Given the description of an element on the screen output the (x, y) to click on. 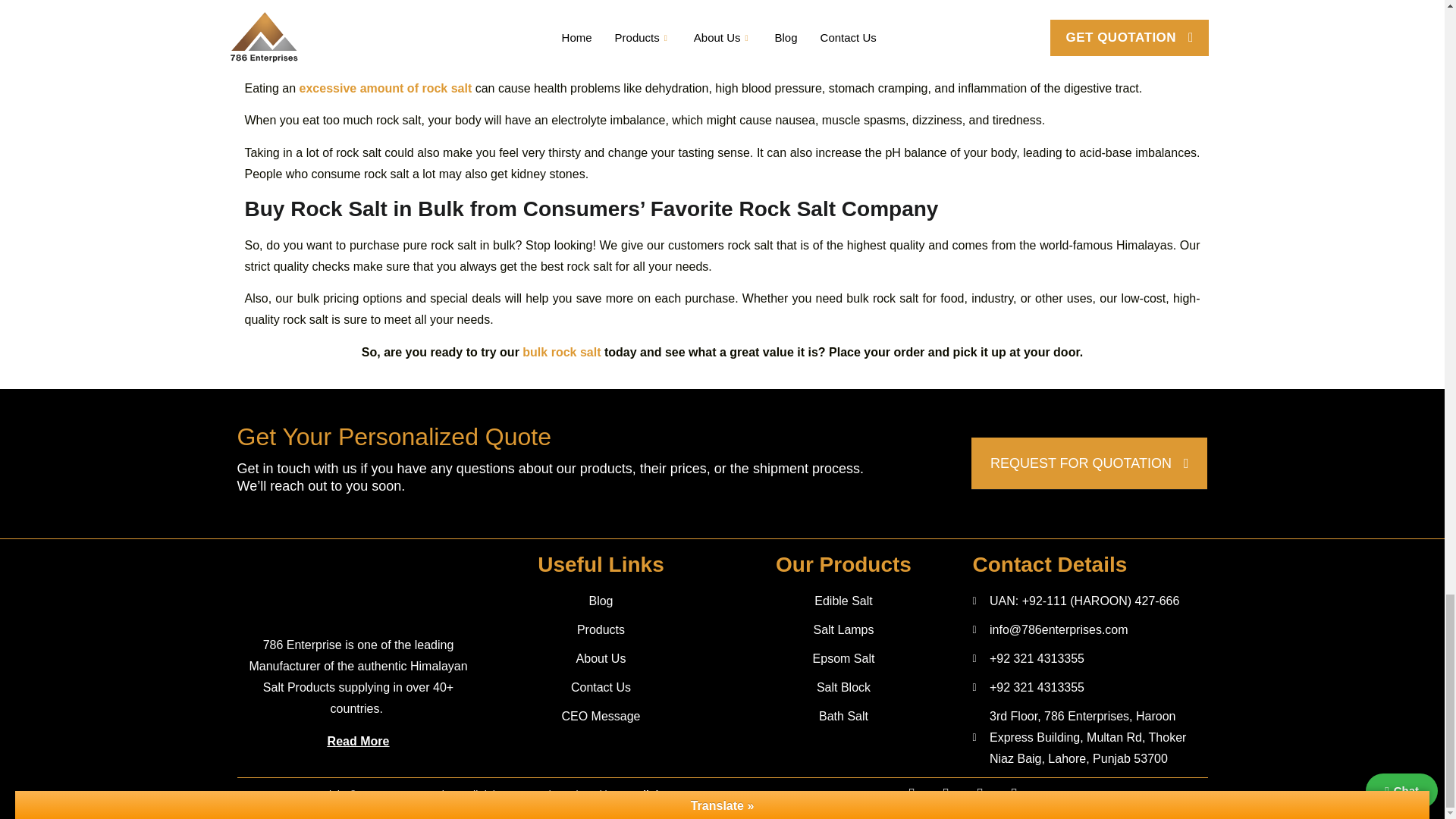
Main-Site-resized-Logo (358, 589)
